Given the description of an element on the screen output the (x, y) to click on. 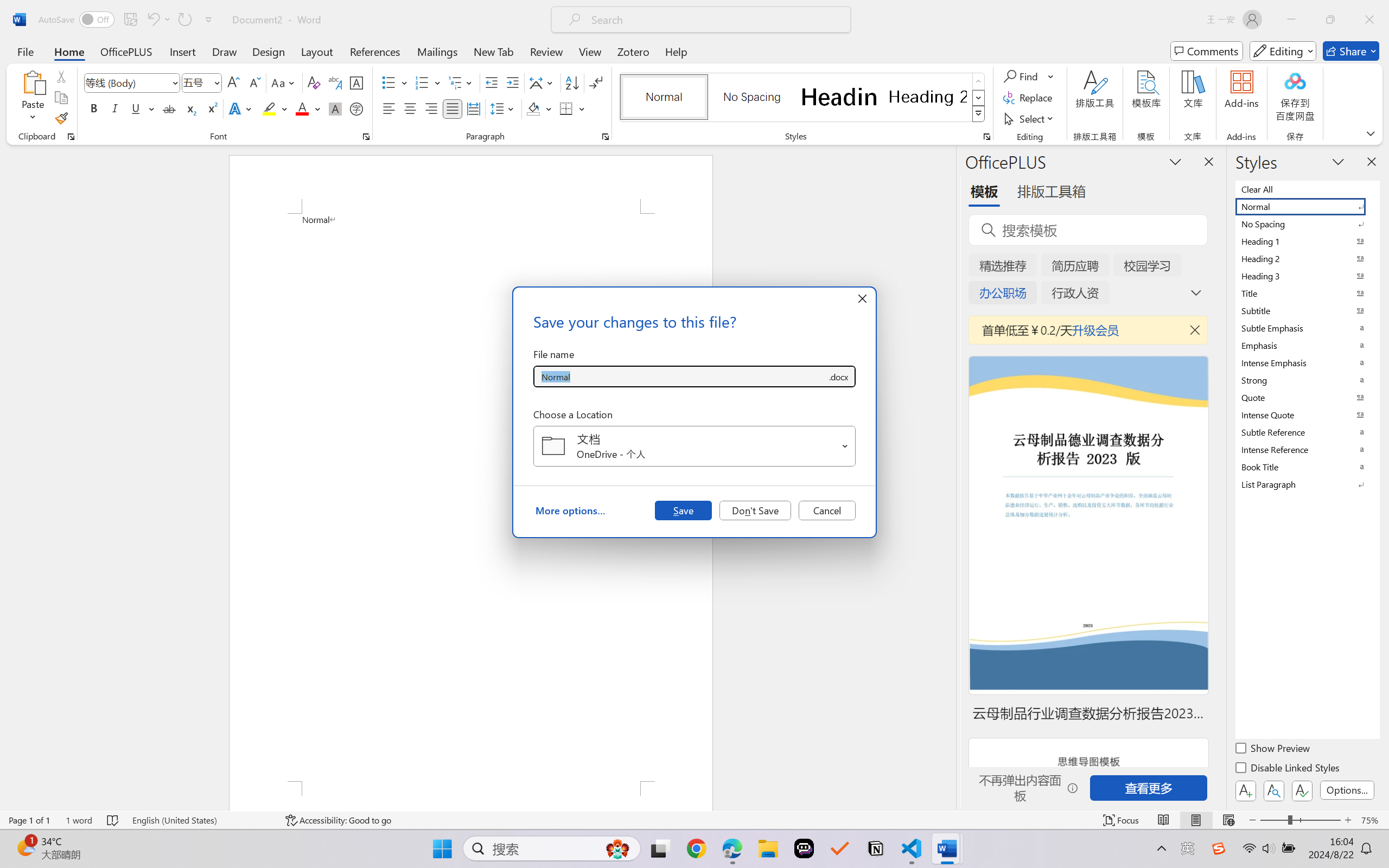
Class: NetUIScrollBar (948, 477)
Undo Apply Quick Style (152, 19)
Zoom In (1348, 819)
Shading (539, 108)
Select (1030, 118)
Sort... (571, 82)
Line and Paragraph Spacing (503, 108)
Heading 3 (1306, 275)
Google Chrome (696, 848)
Underline (135, 108)
Clear Formatting (313, 82)
Font... (365, 136)
Heading 1 (839, 96)
